Given the description of an element on the screen output the (x, y) to click on. 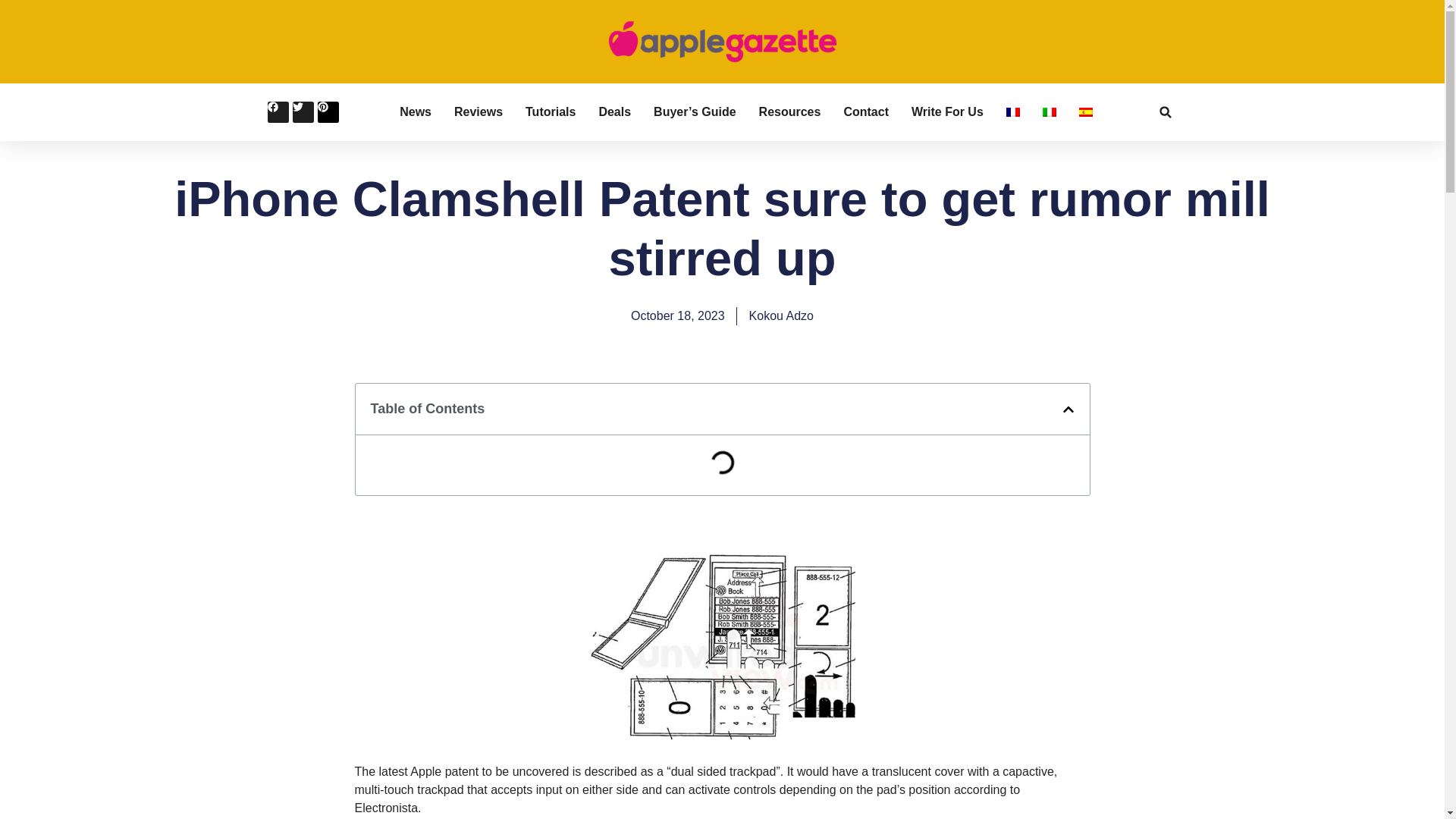
Reviews (478, 112)
Tutorials (550, 112)
Deals (614, 112)
News (414, 112)
Write For Us (947, 112)
appledualtrackpadpatent-lg1.jpg (722, 735)
Resources (789, 112)
Contact (865, 112)
